Given the description of an element on the screen output the (x, y) to click on. 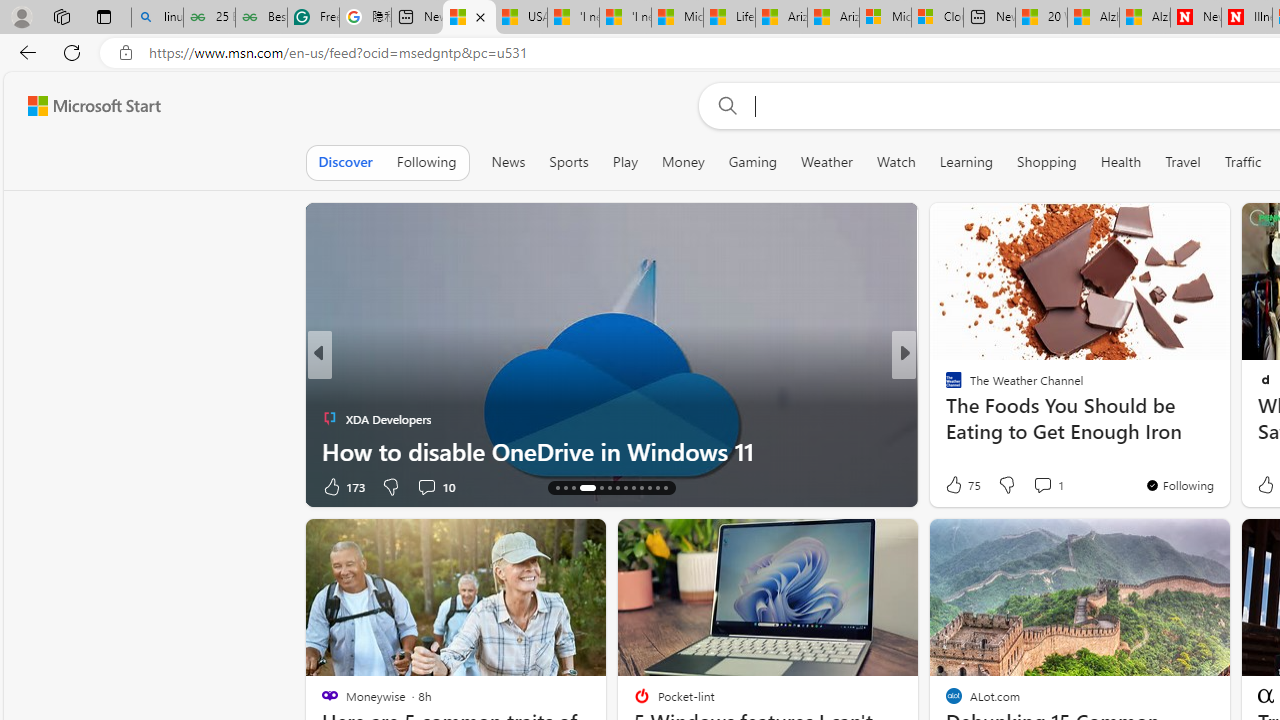
1k Like (955, 486)
View comments 40 Comment (1035, 485)
SlashGear (944, 386)
5k Like (955, 486)
Discover Magazine (944, 386)
View comments 10 Comment (426, 485)
